Given the description of an element on the screen output the (x, y) to click on. 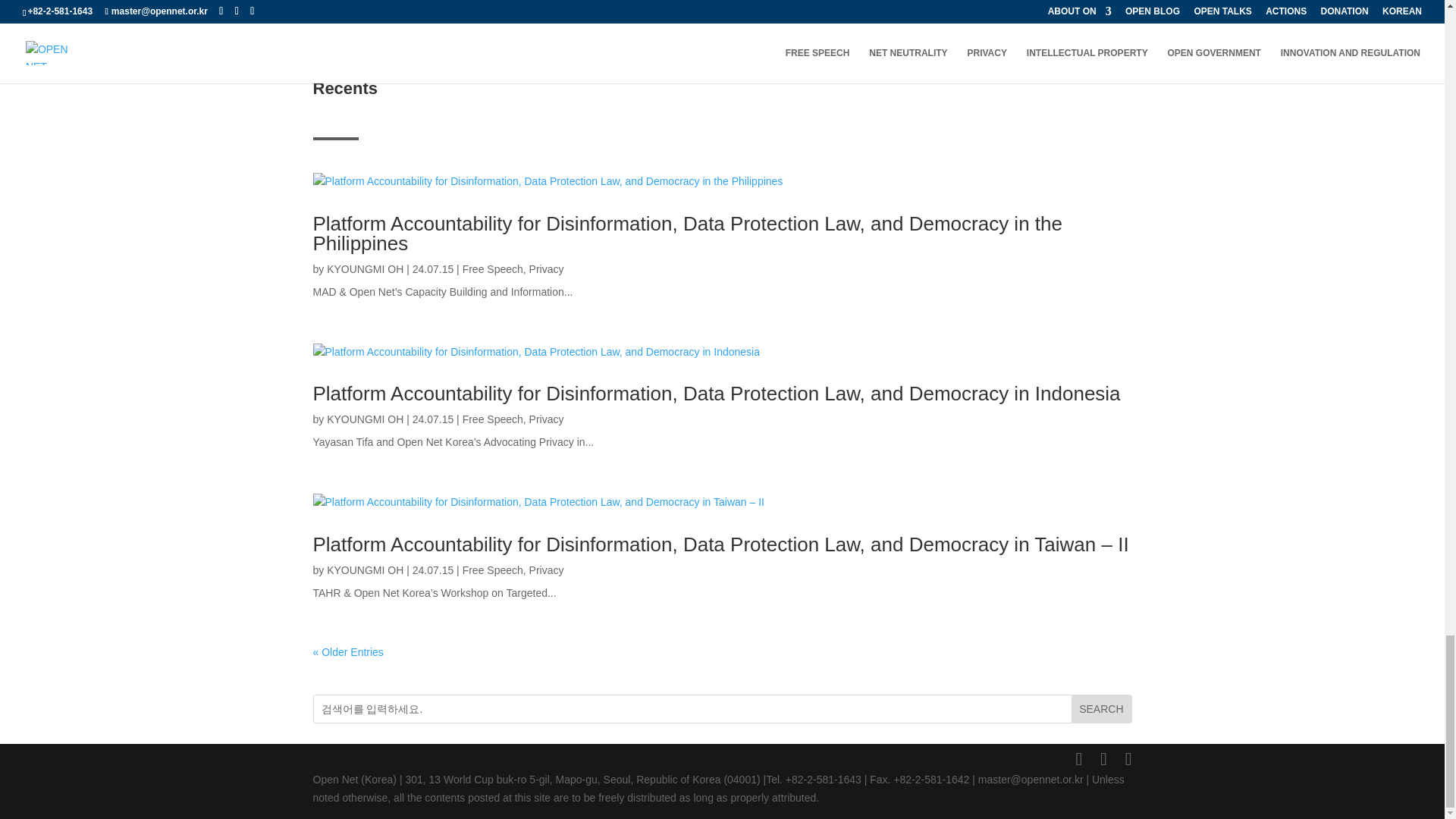
Search (1101, 708)
Posts by KYOUNGMI OH (364, 419)
Search (1101, 708)
Posts by KYOUNGMI OH (364, 570)
Posts by KYOUNGMI OH (364, 268)
